Given the description of an element on the screen output the (x, y) to click on. 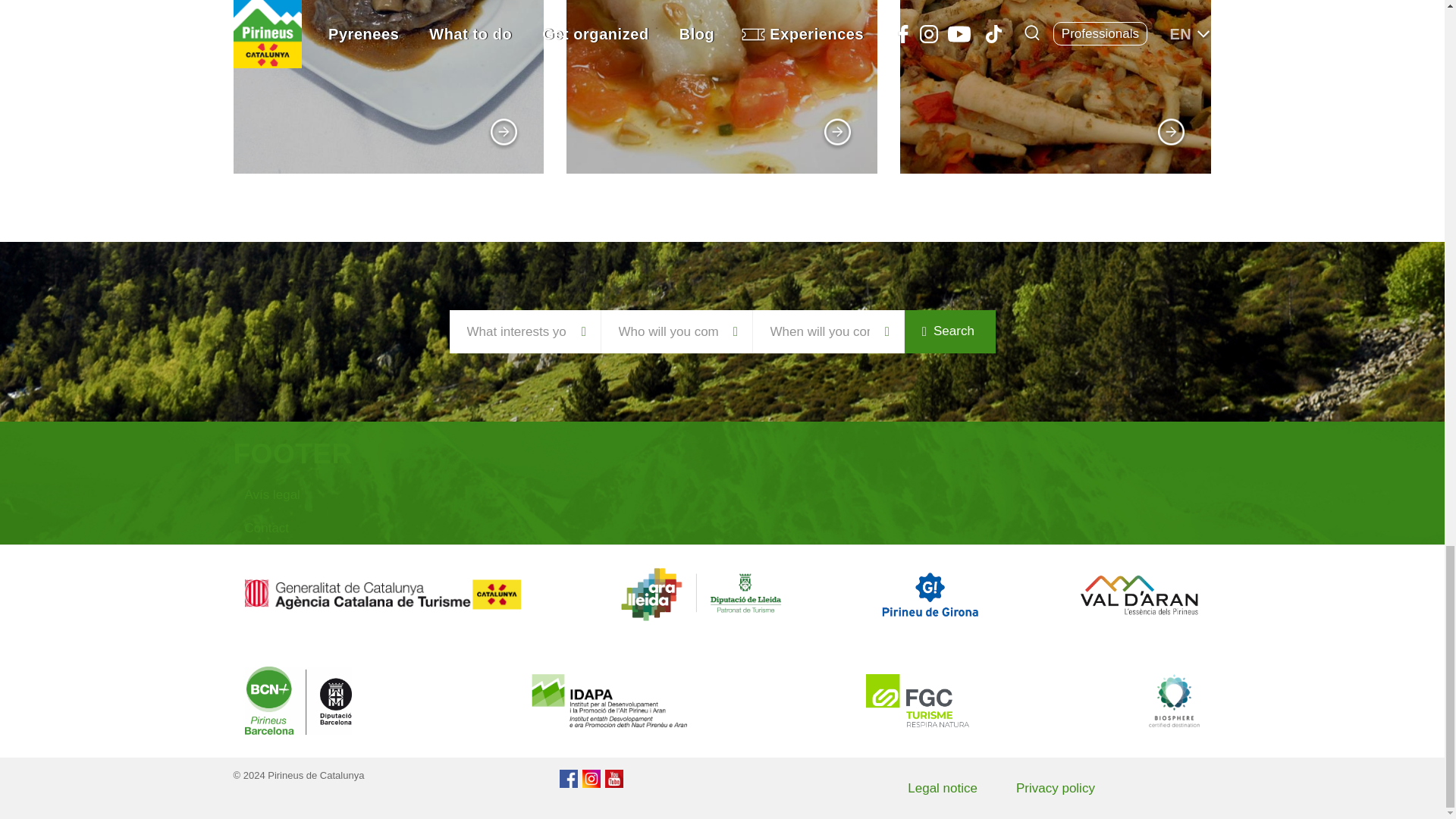
More info (503, 133)
More info (837, 133)
